Given the description of an element on the screen output the (x, y) to click on. 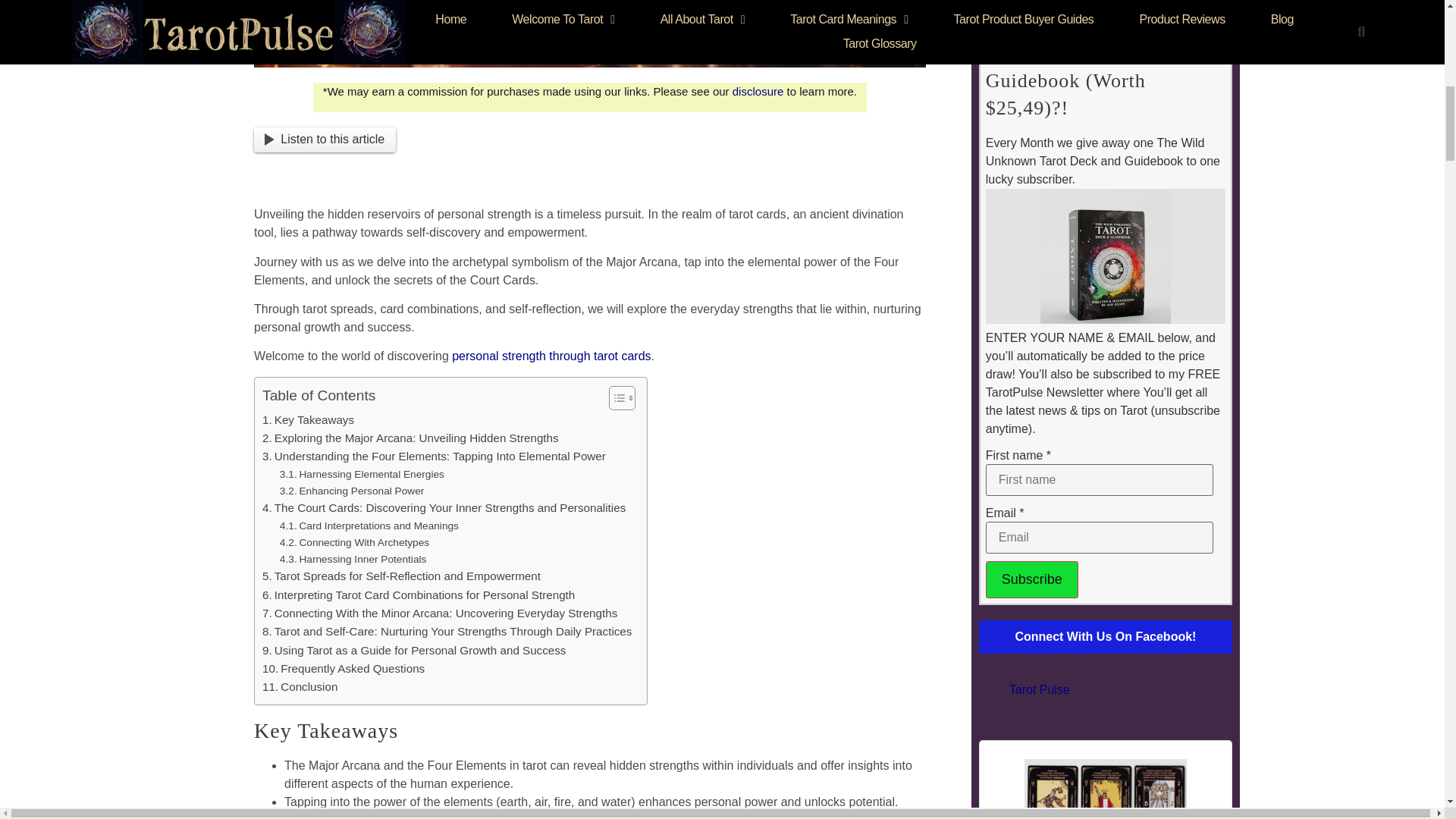
Subscribe (1031, 579)
Enhancing Personal Power (352, 491)
Connecting With Archetypes (354, 542)
Harnessing Inner Potentials (352, 559)
Tarot Spreads for Self-Reflection and Empowerment (401, 576)
Exploring the Major Arcana: Unveiling Hidden Strengths (410, 438)
Using Tarot as a Guide for Personal Growth and Success (414, 650)
Interpreting Tarot Card Combinations for Personal Strength (418, 595)
Key Takeaways (307, 420)
Card Interpretations and Meanings (368, 525)
Harnessing Elemental Energies (361, 474)
